Given the description of an element on the screen output the (x, y) to click on. 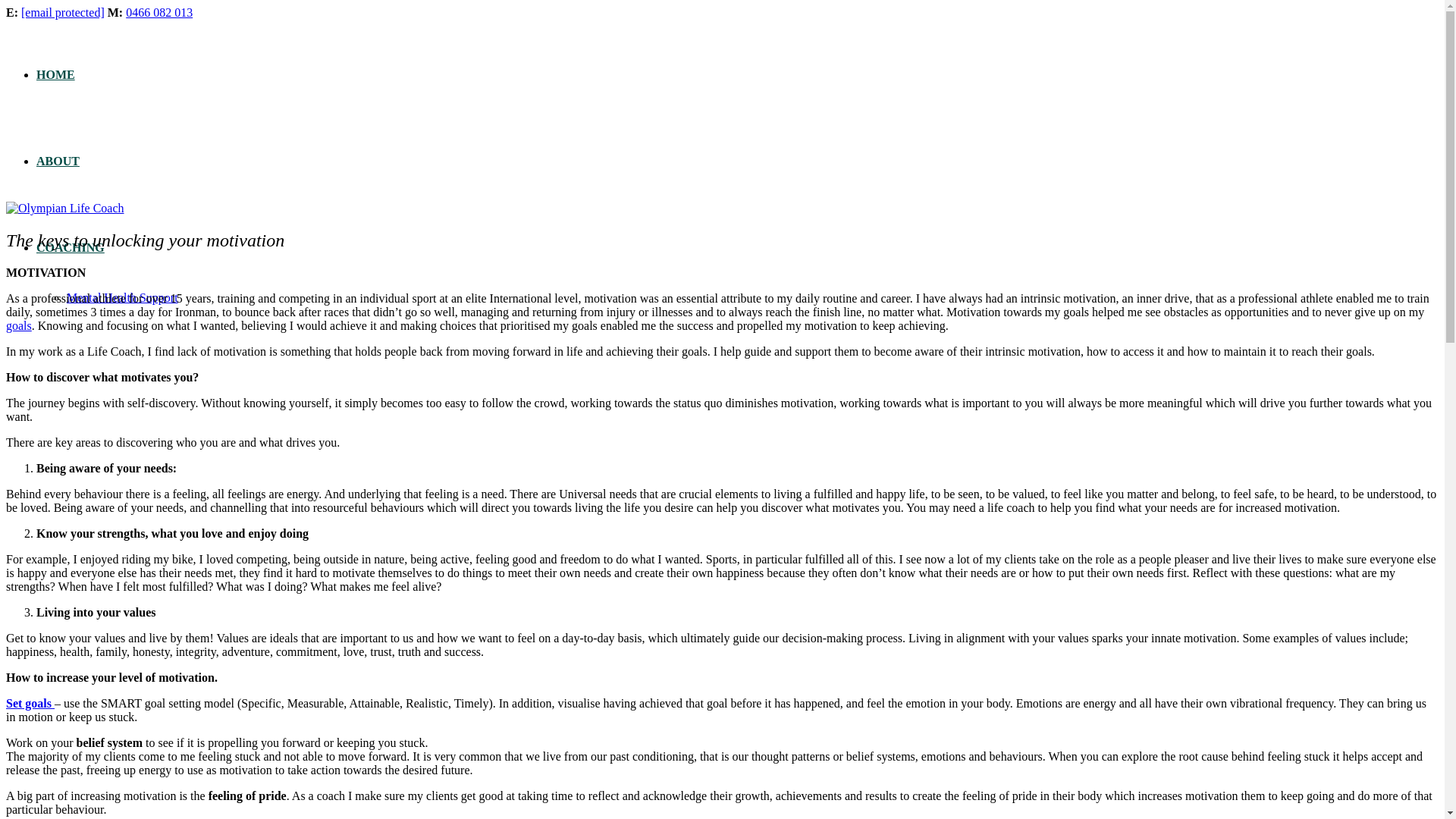
goals (18, 325)
Olympian Anna Baylis Life Coach (64, 207)
Set goals (30, 703)
HOME (55, 74)
COACHING (70, 246)
Mental Health Support (121, 297)
ABOUT (58, 160)
0466 082 013 (158, 11)
